Given the description of an element on the screen output the (x, y) to click on. 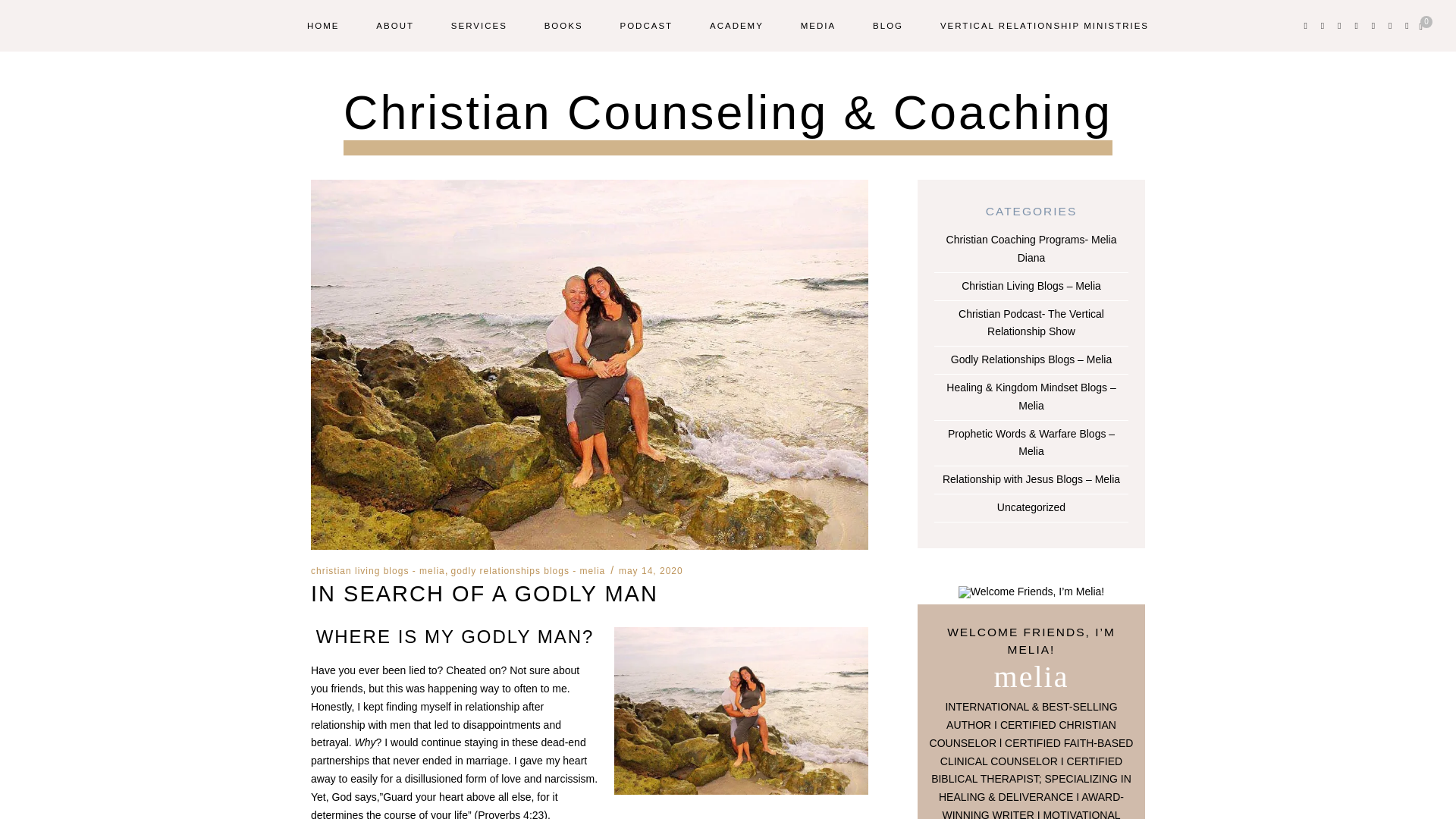
VERTICAL RELATIONSHIP MINISTRIES (1044, 25)
ABOUT (394, 25)
BLOG (887, 25)
ACADEMY (736, 25)
MEDIA (817, 25)
godly relationships blogs - melia (528, 570)
HOME (323, 25)
PODCAST (646, 25)
SERVICES (478, 25)
BOOKS (563, 25)
